Given the description of an element on the screen output the (x, y) to click on. 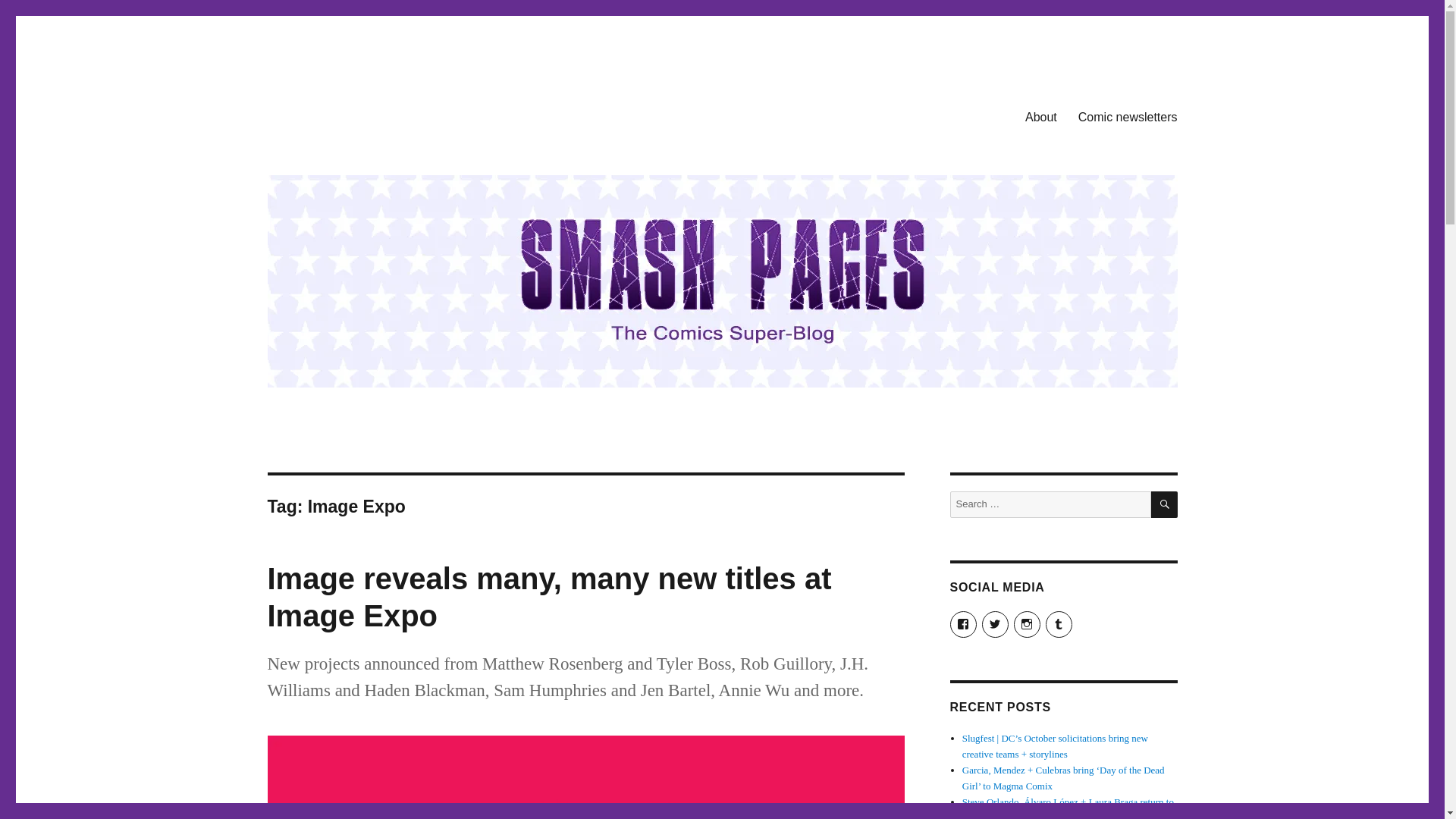
Comic newsletters (1127, 116)
SMASH PAGES (344, 114)
About (1040, 116)
Image reveals many, many new titles at Image Expo (548, 596)
